Given the description of an element on the screen output the (x, y) to click on. 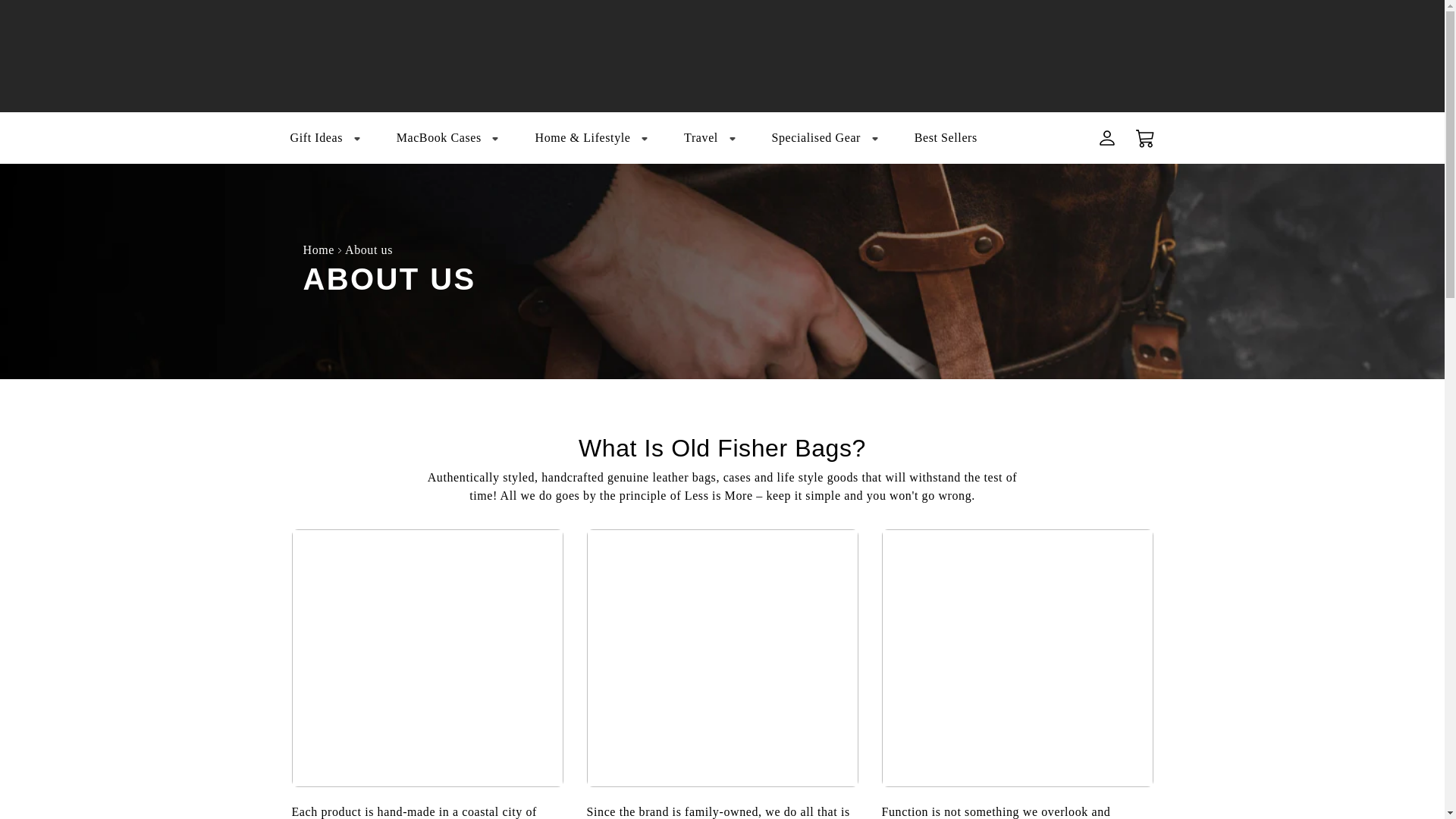
Specialised Gear (824, 137)
Skip to content (45, 17)
Gift Ideas (324, 137)
Travel (709, 137)
Best Sellers (945, 137)
MacBook Cases (447, 137)
